Given the description of an element on the screen output the (x, y) to click on. 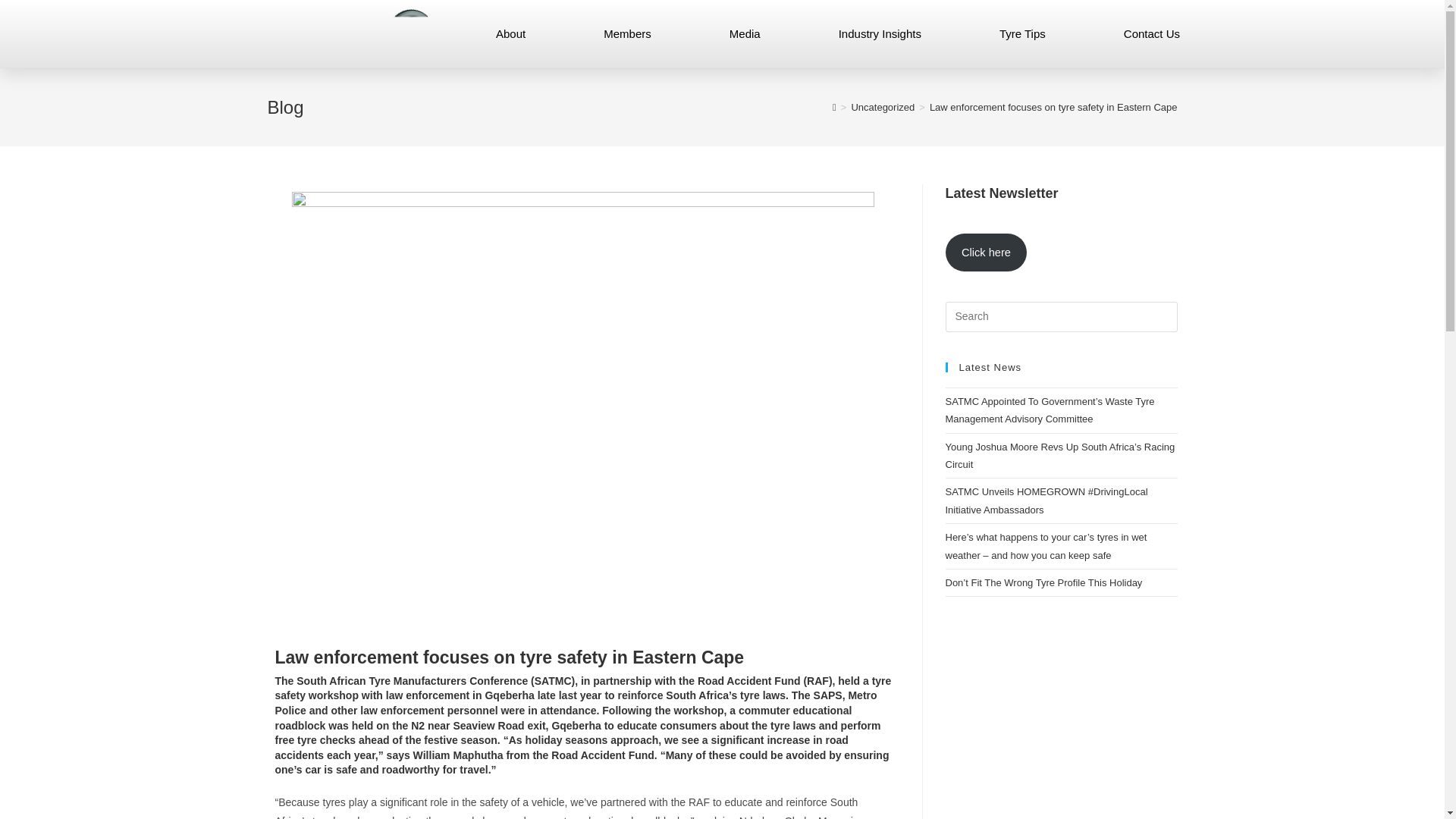
Click here (985, 252)
Tyre Tips (1021, 34)
Uncategorized (882, 107)
About (511, 34)
Members (627, 34)
Industry Insights (879, 34)
Law enforcement focuses on tyre safety in Eastern Cape (1053, 107)
Contact Us (1151, 34)
Media (744, 34)
